Given the description of an element on the screen output the (x, y) to click on. 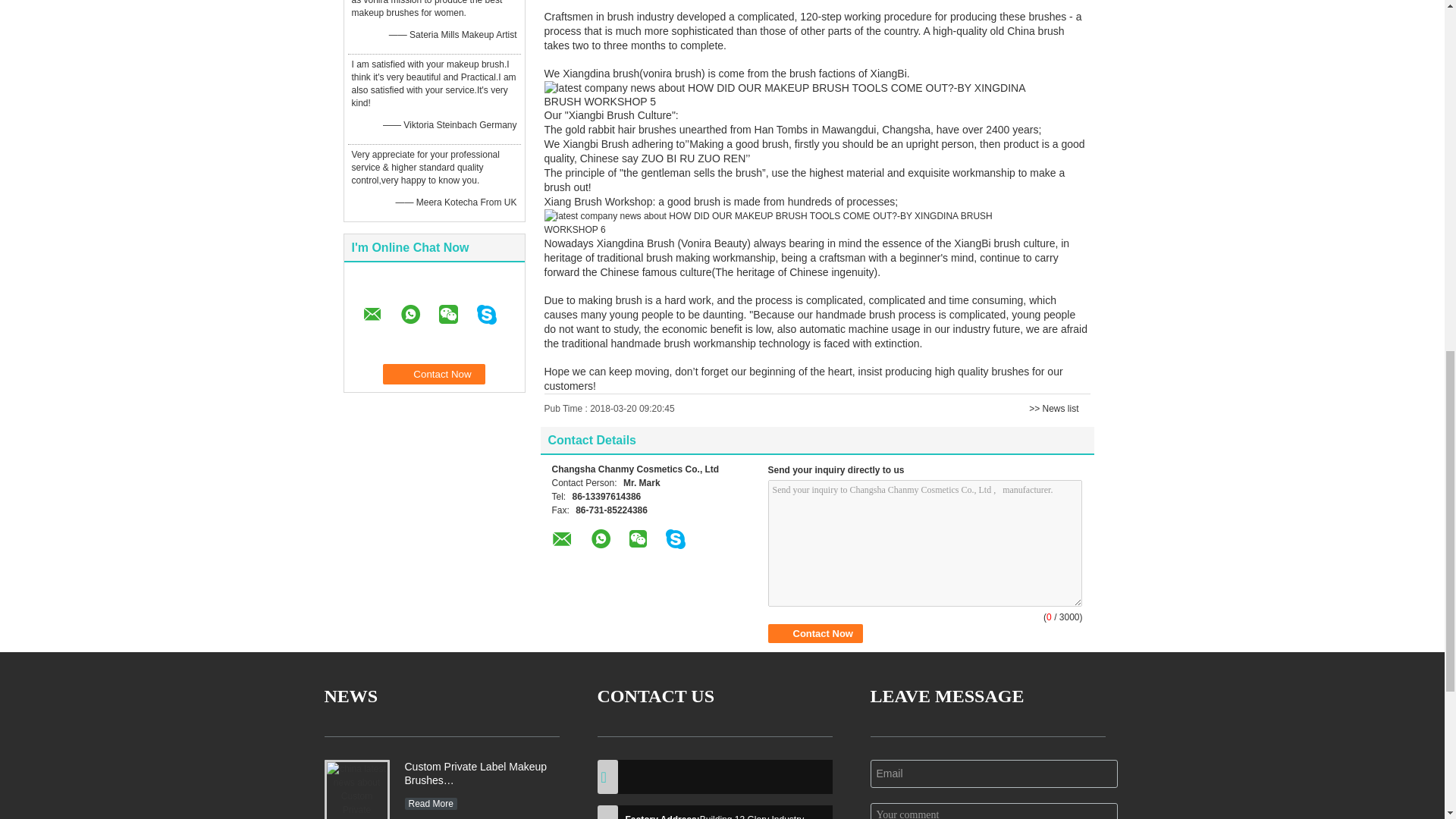
Contact Now (433, 373)
Contact Now (814, 633)
